Given the description of an element on the screen output the (x, y) to click on. 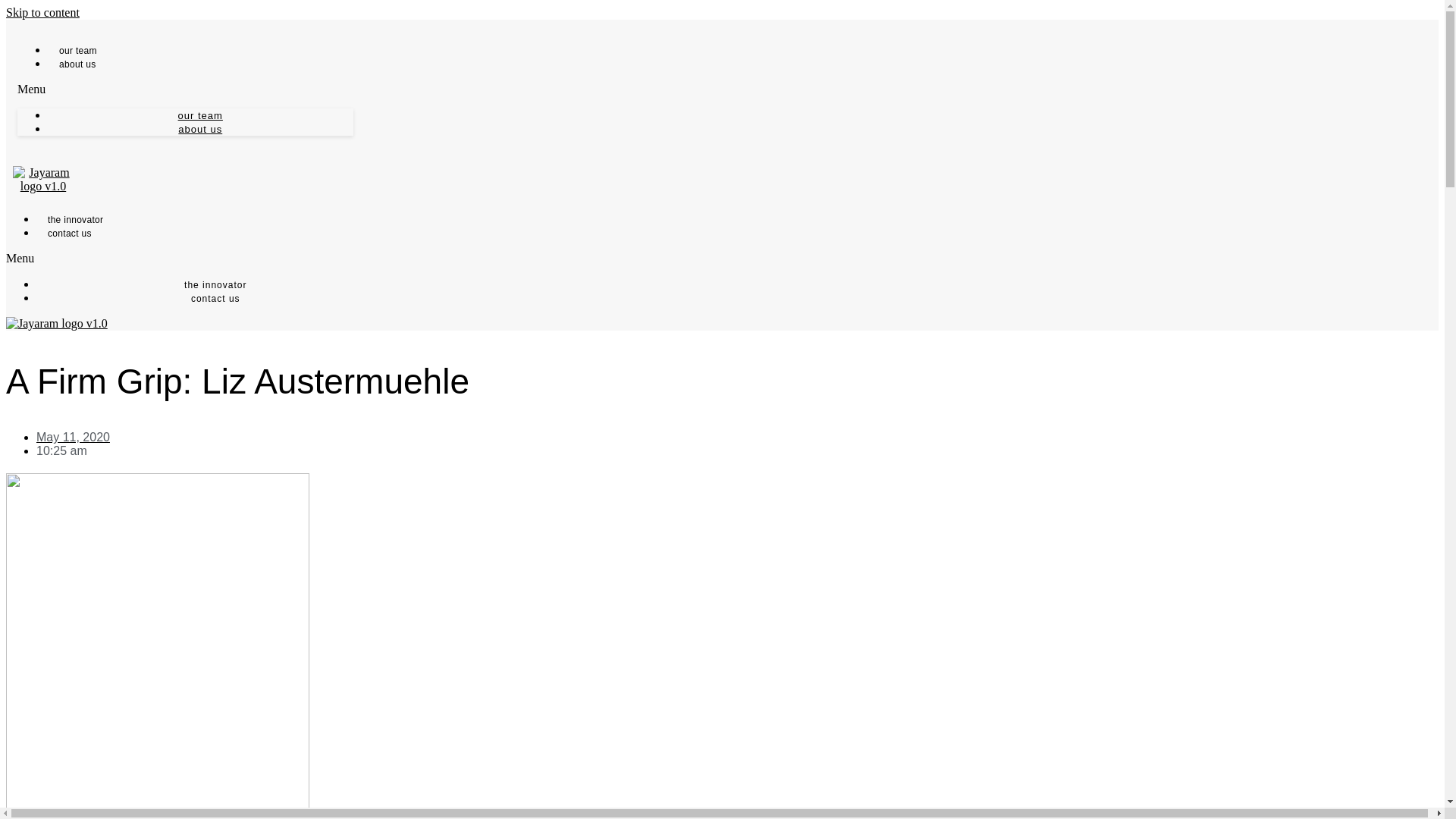
Jayaram logo v1.0 (43, 179)
the innovator (75, 219)
the innovator (215, 285)
contact us (215, 298)
May 11, 2020 (73, 436)
contact us (69, 233)
our team (77, 50)
Skip to content (42, 11)
about us (77, 63)
Jayaram logo v1.0 (56, 323)
